Given the description of an element on the screen output the (x, y) to click on. 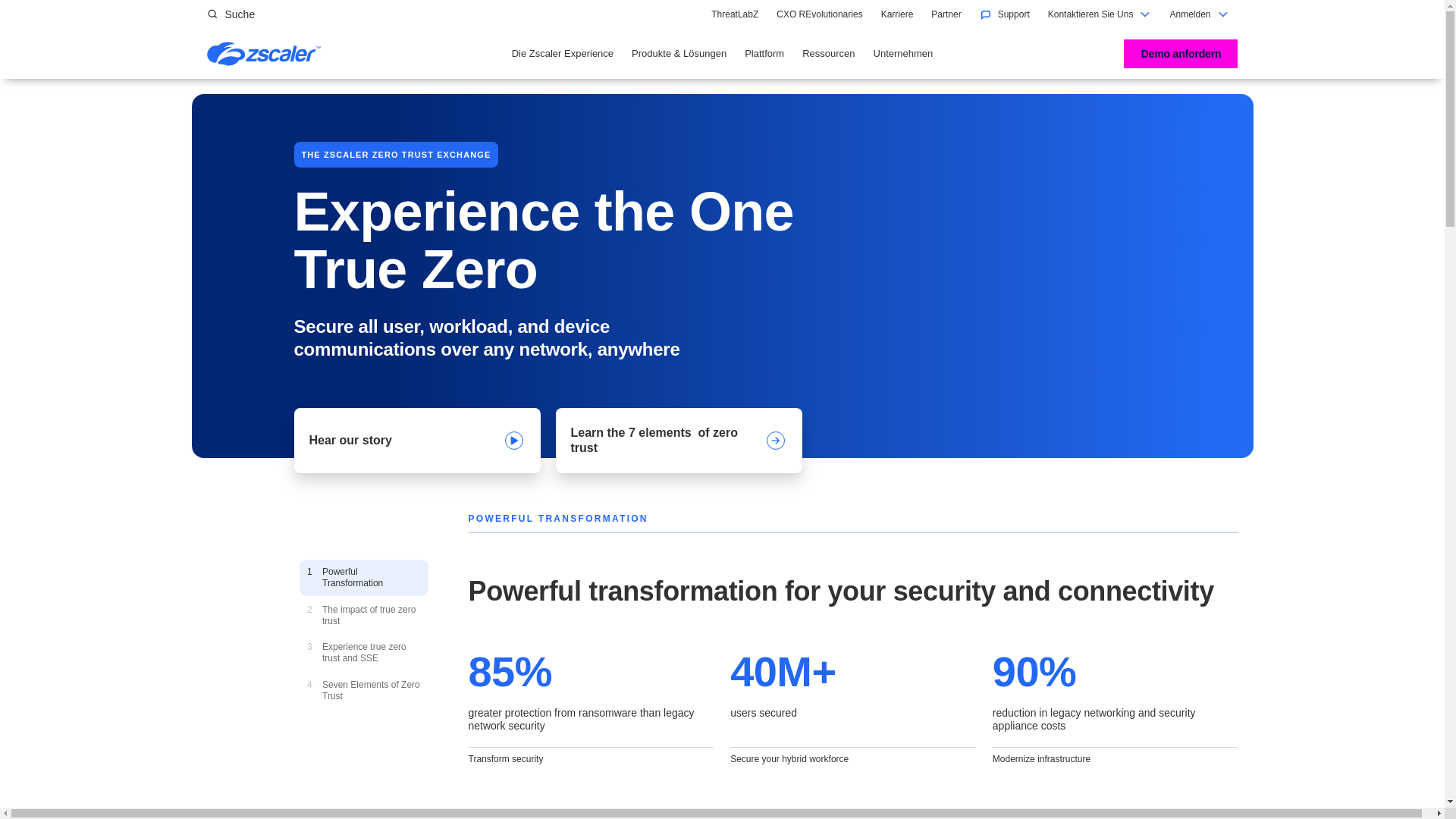
CXO REvolutionaries (818, 13)
Die Zscaler Experience (562, 53)
ThreatLabZ (230, 14)
Demo anfordern (734, 13)
Karriere (1180, 53)
Ressourcen (897, 13)
Plattform (828, 53)
